Given the description of an element on the screen output the (x, y) to click on. 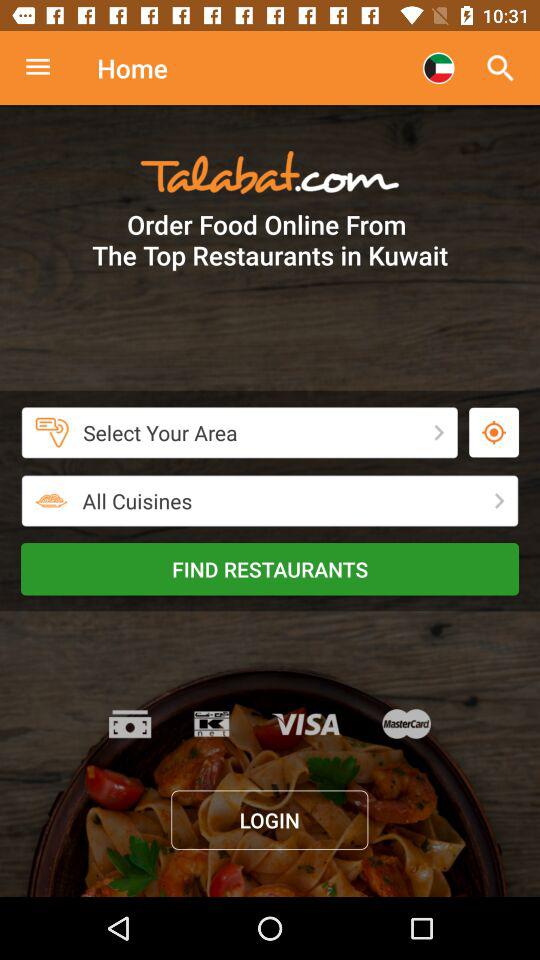
go to custom (48, 67)
